Given the description of an element on the screen output the (x, y) to click on. 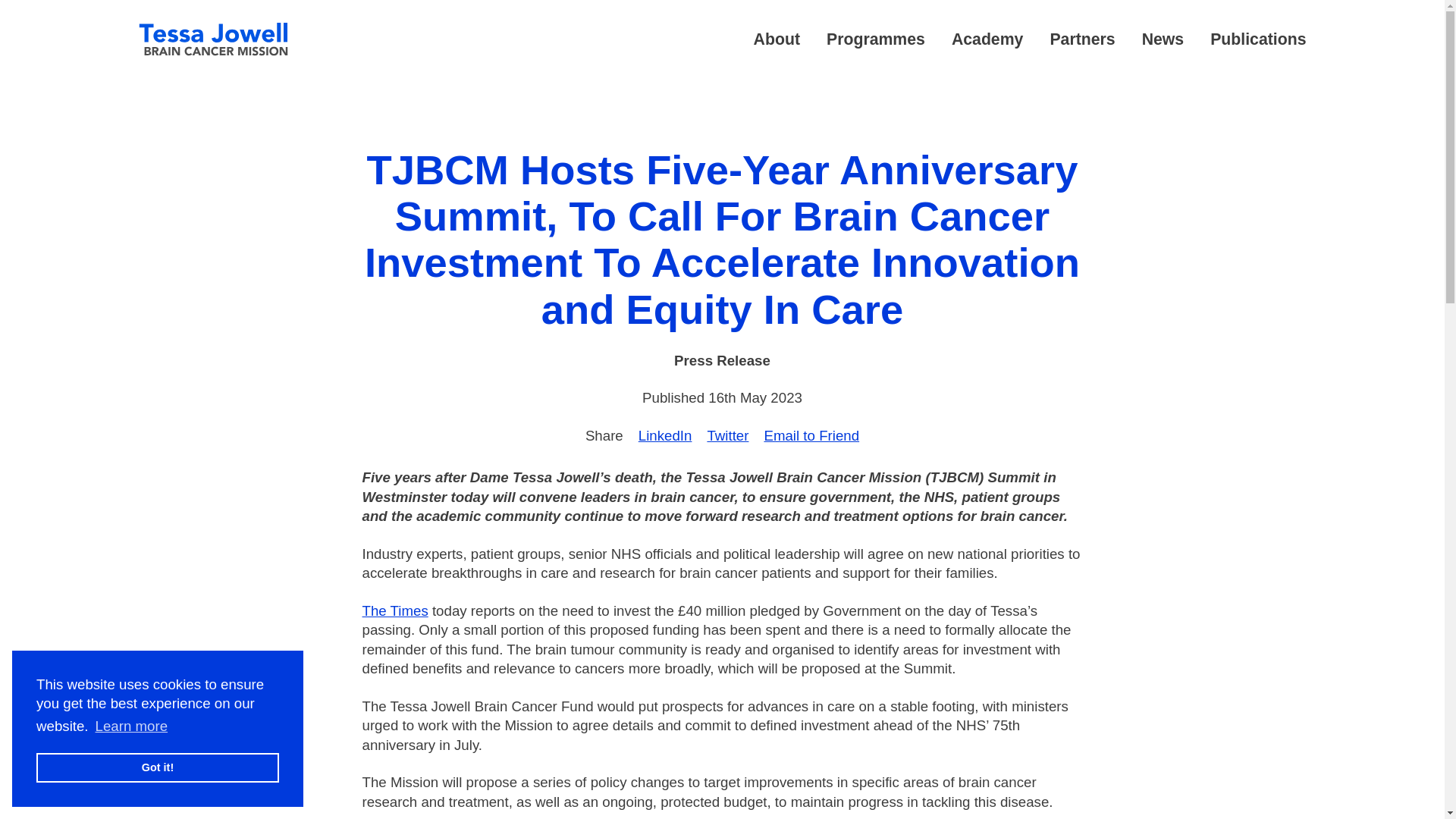
Got it! (157, 767)
Twitter (727, 435)
Publications (1257, 39)
Partners (1082, 39)
The Times (395, 610)
Academy (987, 39)
Email to Friend (810, 435)
Learn more (131, 725)
Programmes (875, 39)
LinkedIn (666, 435)
